Given the description of an element on the screen output the (x, y) to click on. 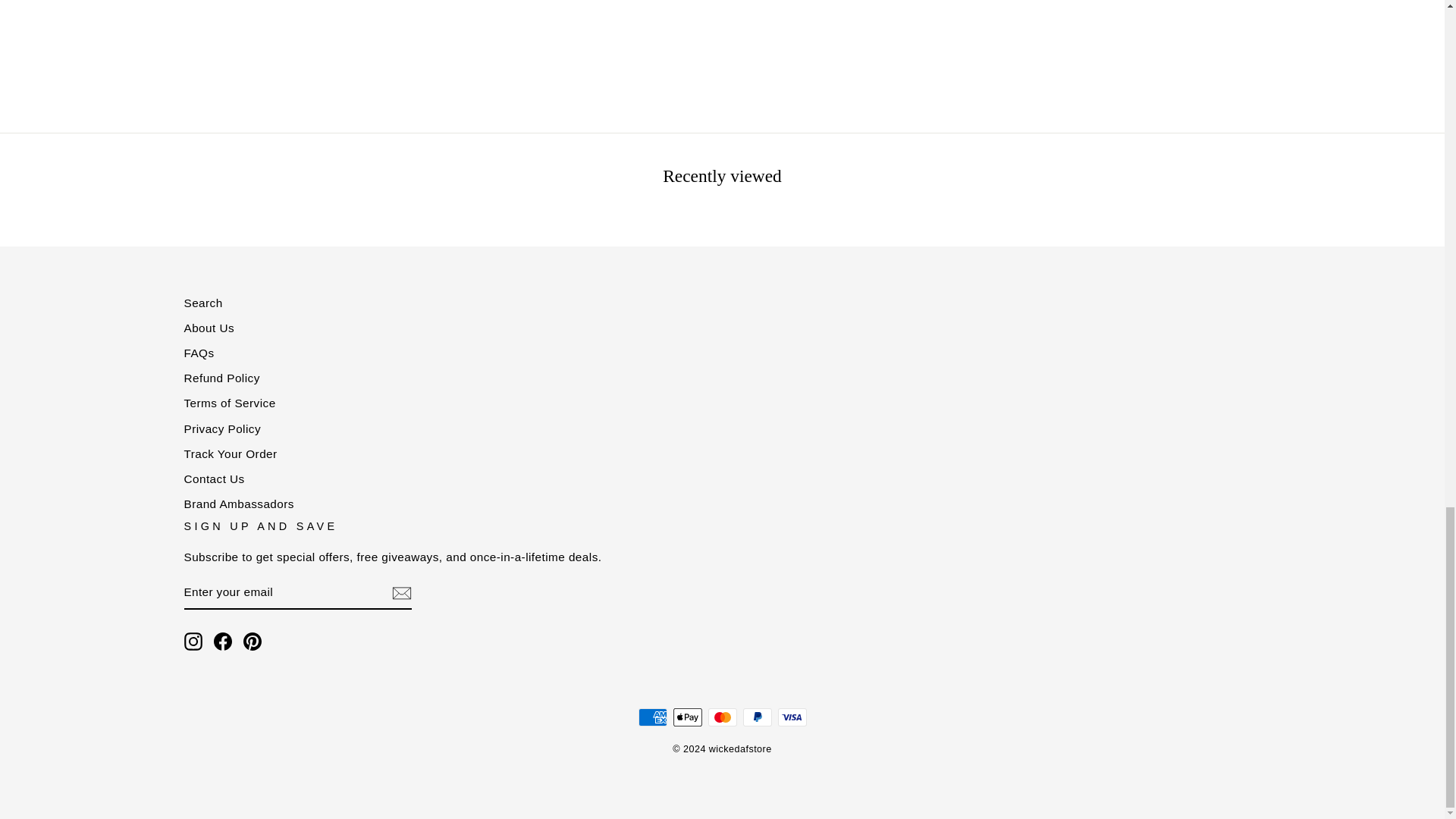
Apple Pay (686, 717)
American Express (652, 717)
wickedafstore on Instagram (192, 641)
wickedafstore on Facebook (222, 641)
wickedafstore on Pinterest (251, 641)
